Given the description of an element on the screen output the (x, y) to click on. 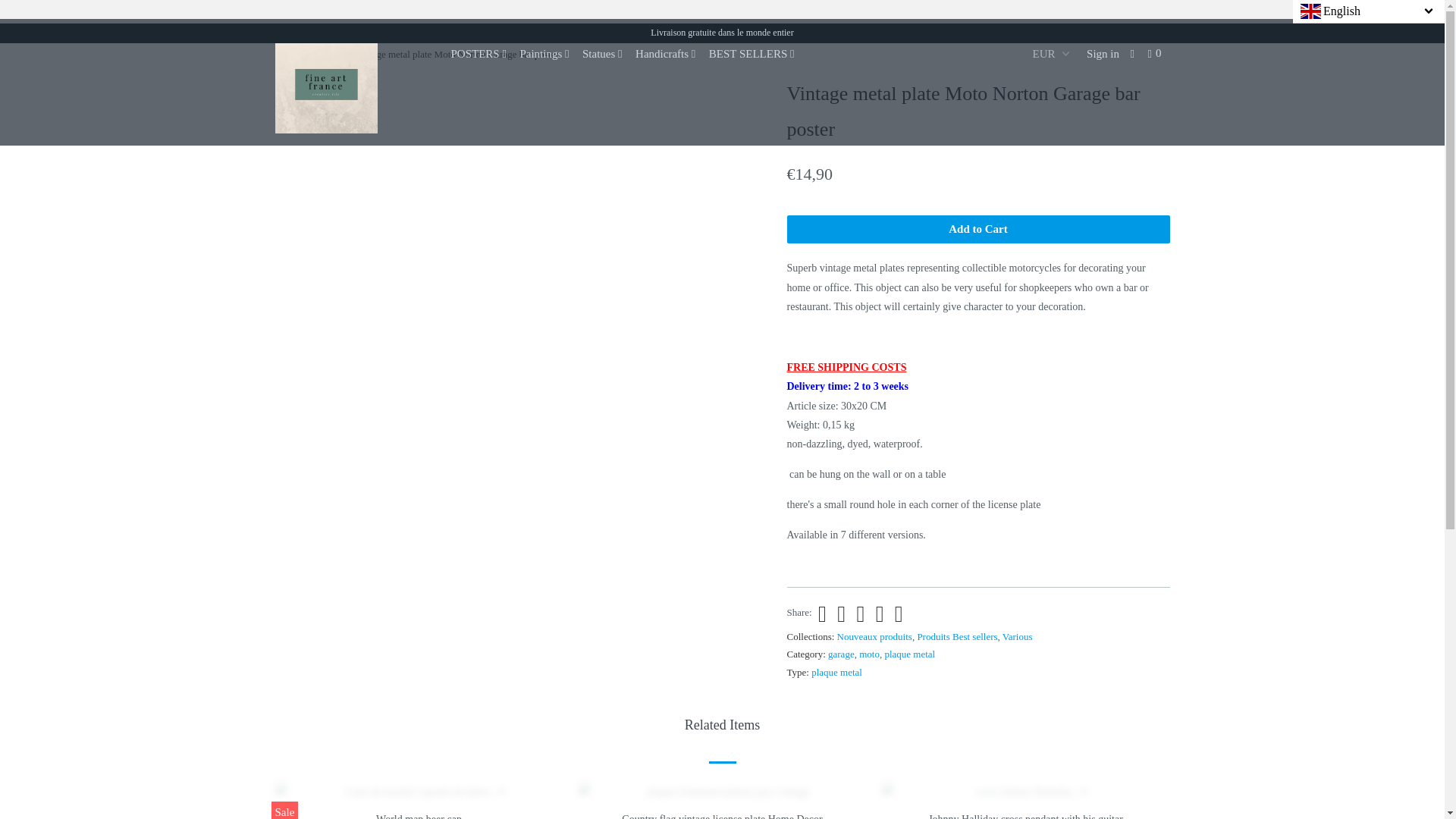
Nouveaux produits (874, 636)
My Account  (1102, 53)
Fineartsfrance (286, 53)
Fineartsfrance (352, 81)
Products (327, 53)
